Given the description of an element on the screen output the (x, y) to click on. 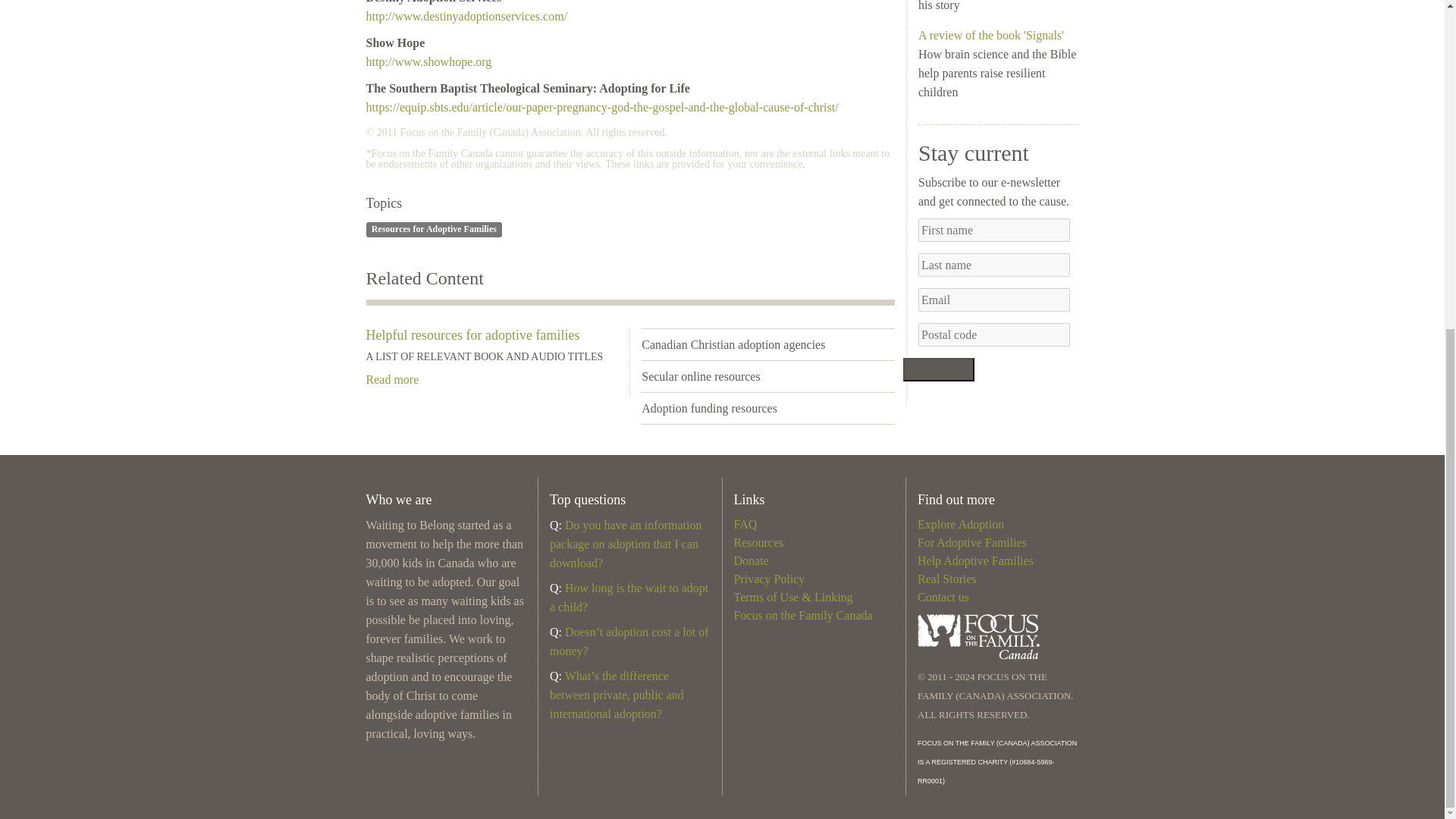
A review of the book 'Signals' (991, 34)
Q: How long is the wait to adopt a child? (628, 597)
question (557, 631)
Secular online resources (701, 376)
Donate (750, 560)
question (557, 524)
Sign me up! (938, 369)
Focus on the Family Canada (802, 615)
FAQ (745, 523)
